Given the description of an element on the screen output the (x, y) to click on. 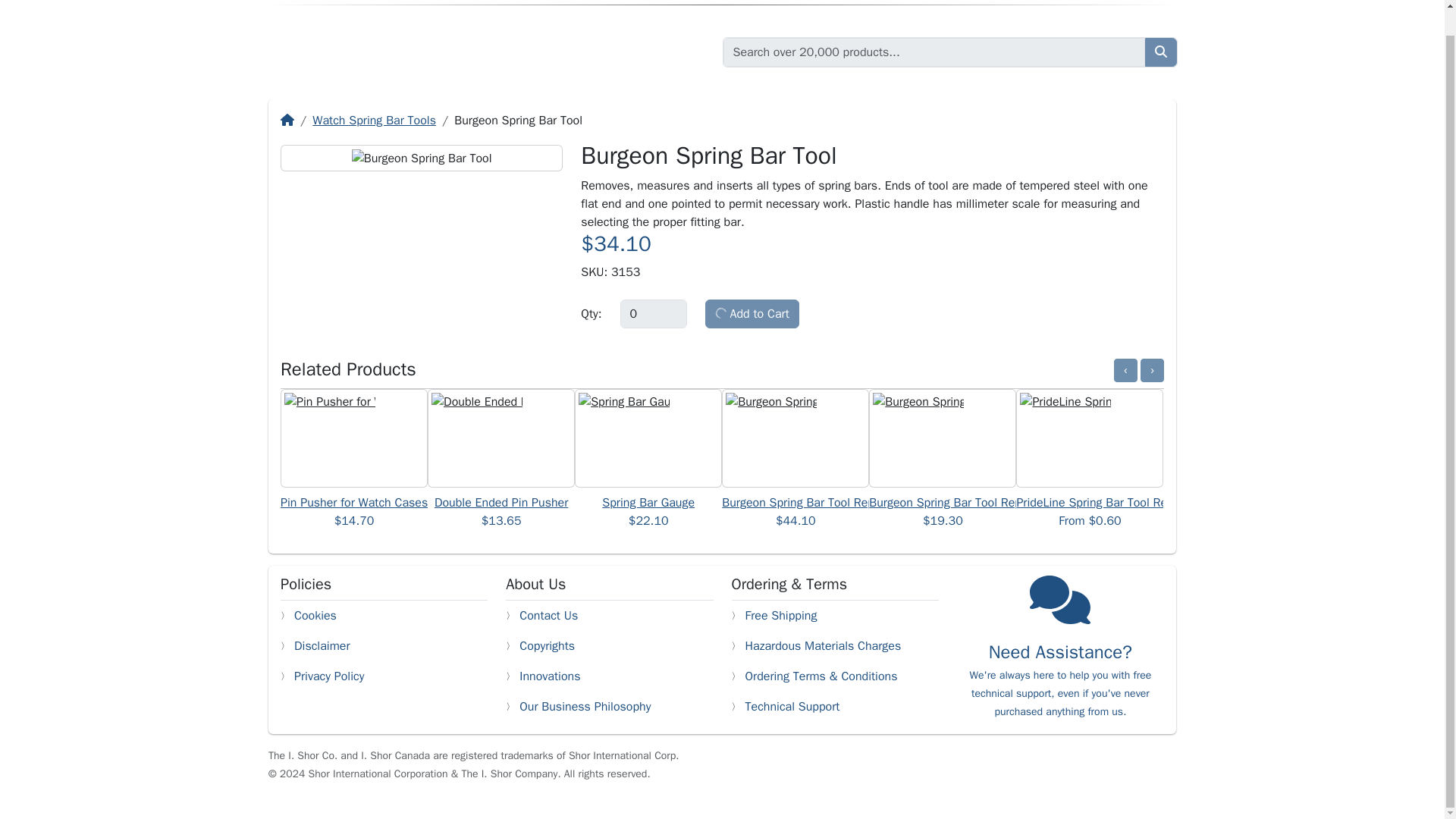
Log In (1026, 2)
Home page (410, 52)
PrideLine Spring Bar Tool Replacement Parts (1134, 502)
Contact Us (548, 615)
PrideLine Spring Bar Tool Replacement Parts (1134, 502)
Click To Verify (1141, 773)
Privacy Policy (329, 676)
Cart (1150, 2)
Pin Pusher for Watch Cases and Strap Buckles (404, 502)
Click To Verify (1042, 773)
